Given the description of an element on the screen output the (x, y) to click on. 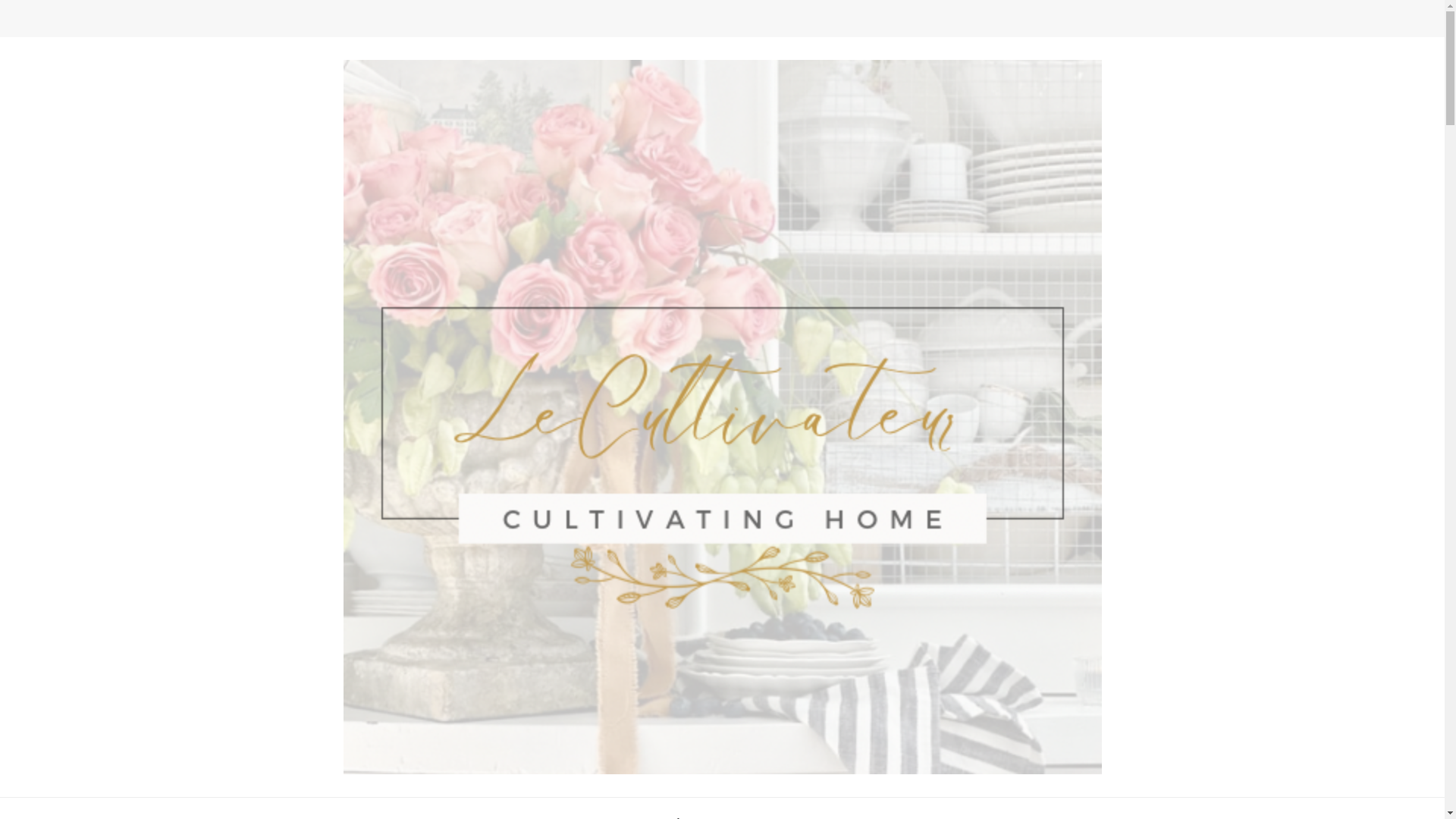
Home (747, 808)
As Seen In (822, 808)
LeCultivateur (324, 787)
Contact (614, 808)
Search (1148, 22)
About (683, 808)
